Given the description of an element on the screen output the (x, y) to click on. 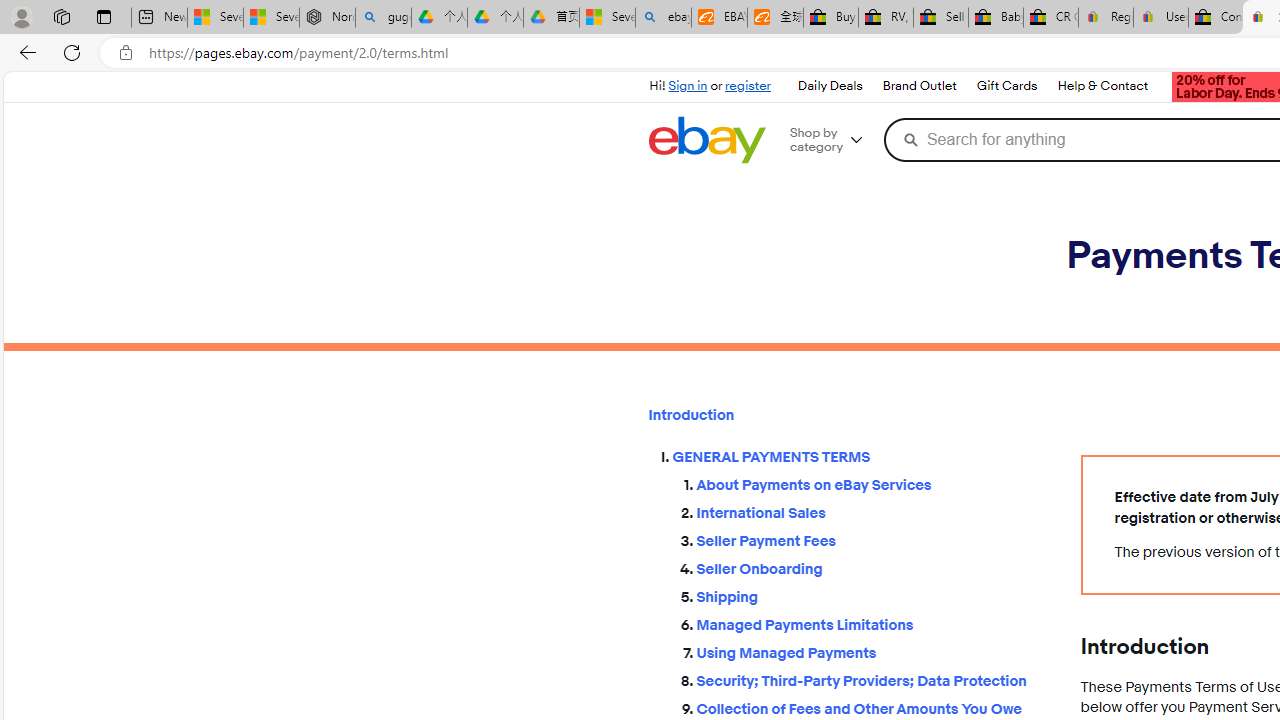
Shipping (872, 592)
Using Managed Payments (872, 652)
Managed Payments Limitations (872, 624)
eBay Home (706, 139)
Collection of Fees and Other Amounts You Owe (872, 705)
Shipping (872, 596)
Help & Contact (1103, 86)
